Given the description of an element on the screen output the (x, y) to click on. 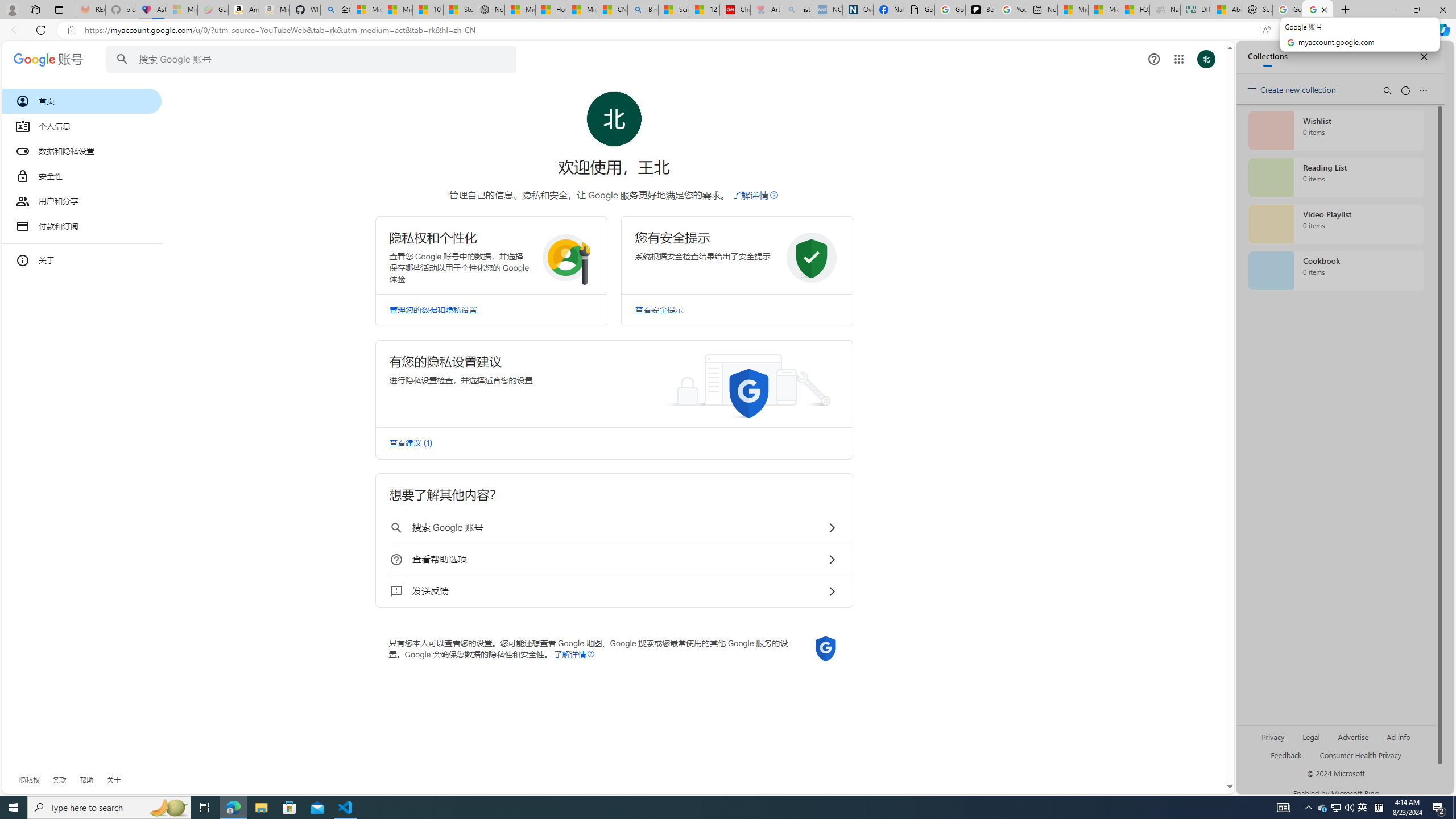
FOX News - MSN (1133, 9)
